Given the description of an element on the screen output the (x, y) to click on. 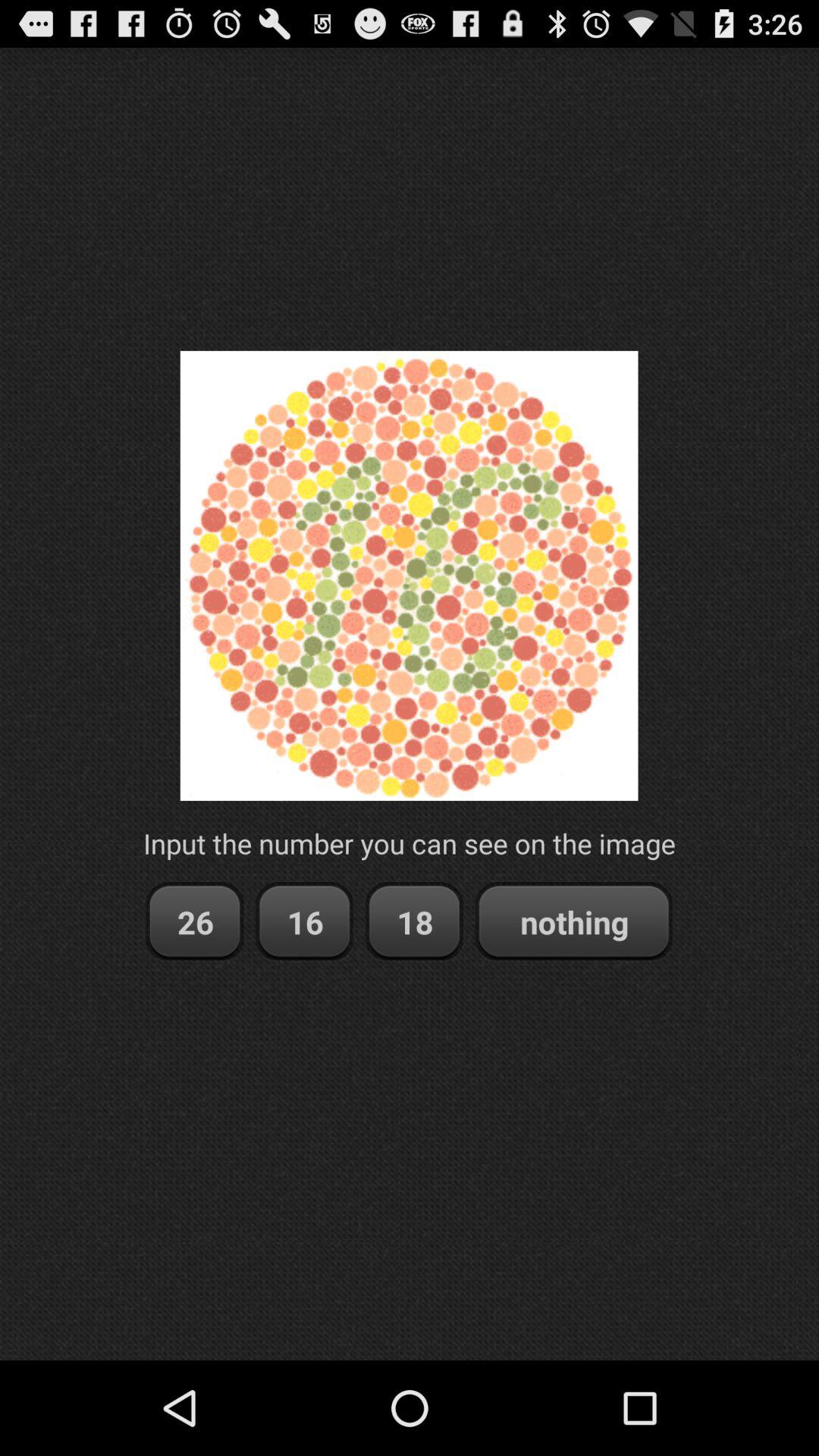
launch the item to the left of the 16 item (194, 921)
